Given the description of an element on the screen output the (x, y) to click on. 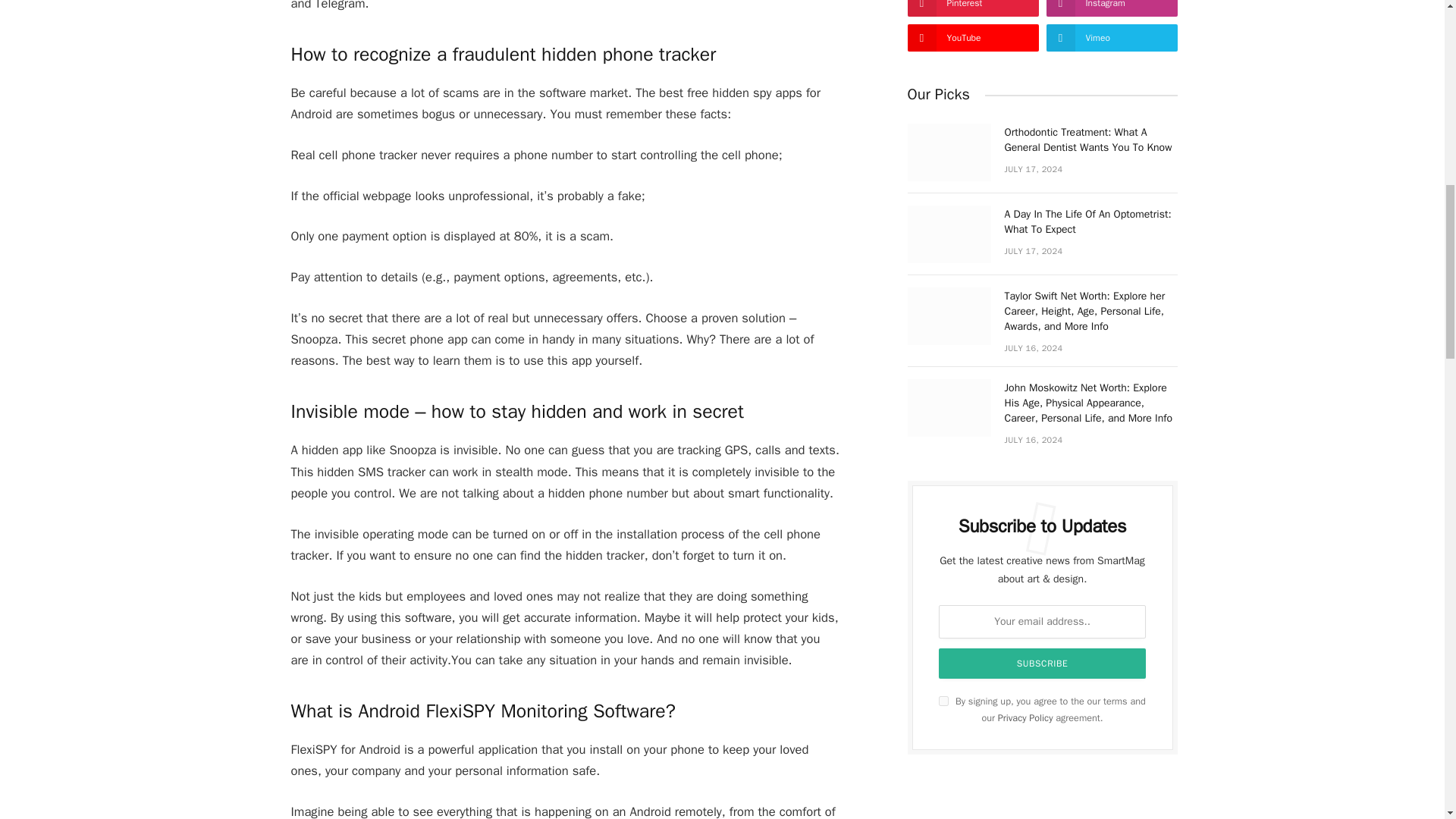
on (944, 700)
Subscribe (1043, 663)
